Given the description of an element on the screen output the (x, y) to click on. 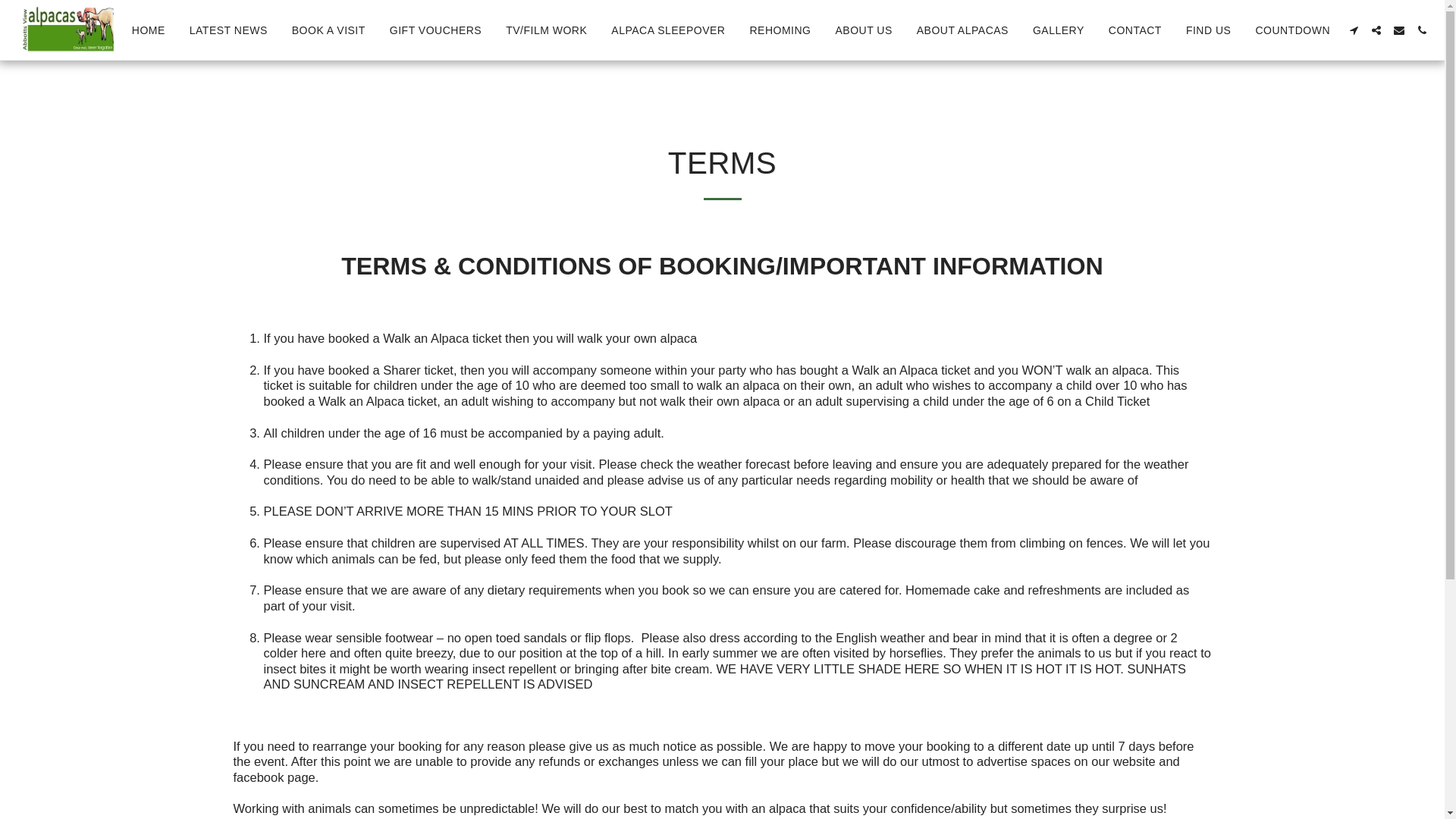
CONTACT (1135, 29)
GALLERY (1059, 29)
LATEST NEWS (228, 29)
ALPACA SLEEPOVER (667, 29)
HOME (148, 29)
BOOK A VISIT (329, 29)
ABOUT ALPACAS (962, 29)
FIND US (1208, 29)
GIFT VOUCHERS (435, 29)
REHOMING (780, 29)
ABOUT US (863, 29)
